Given the description of an element on the screen output the (x, y) to click on. 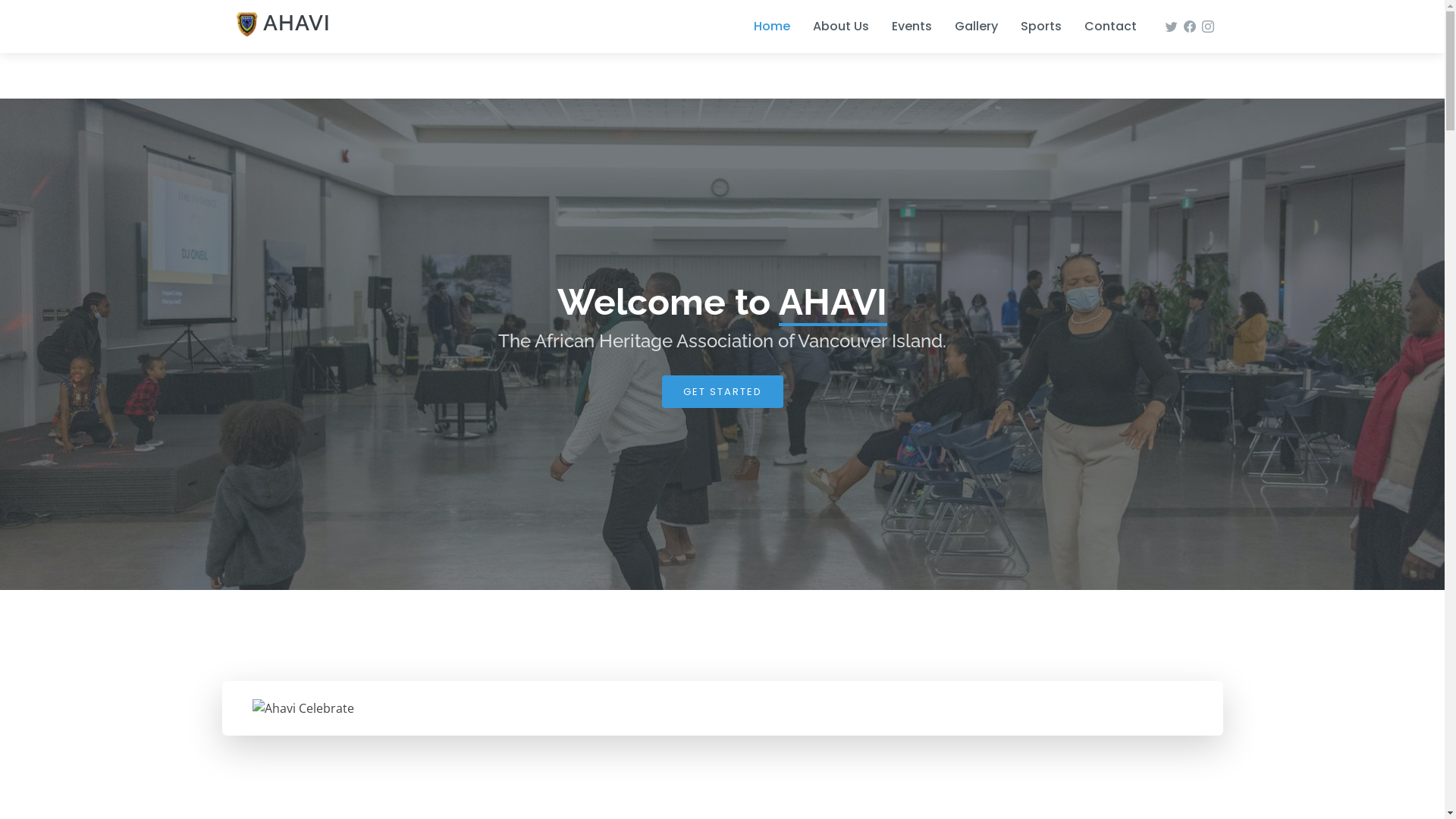
Events Element type: text (900, 26)
Home Element type: text (760, 26)
AHAVI Element type: text (280, 25)
Sports Element type: text (1029, 26)
GET STARTED Element type: text (721, 391)
Contact Element type: text (1098, 26)
Gallery Element type: text (964, 26)
About Us Element type: text (829, 26)
